Given the description of an element on the screen output the (x, y) to click on. 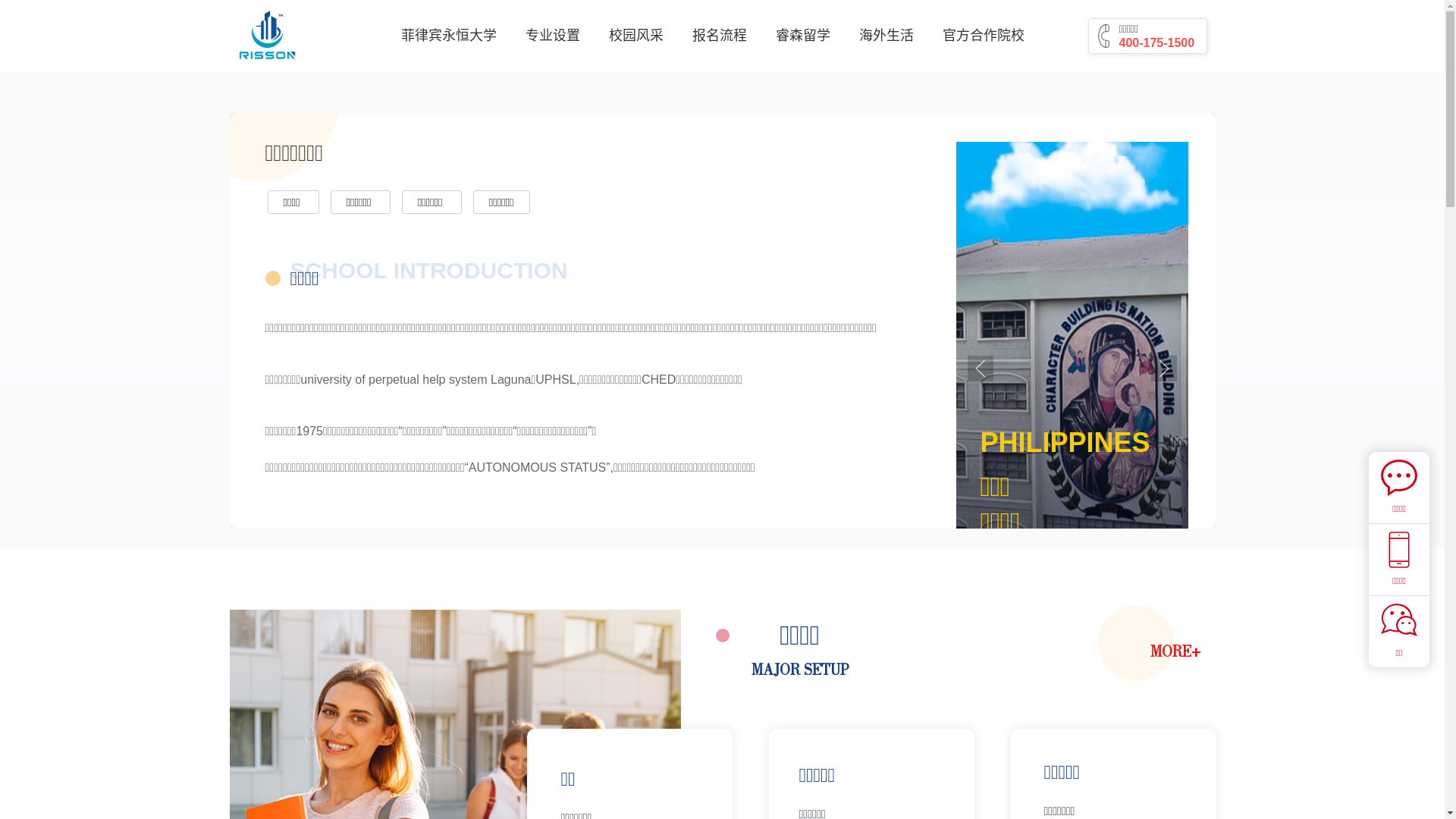
MORE+ Element type: text (1174, 652)
